Given the description of an element on the screen output the (x, y) to click on. 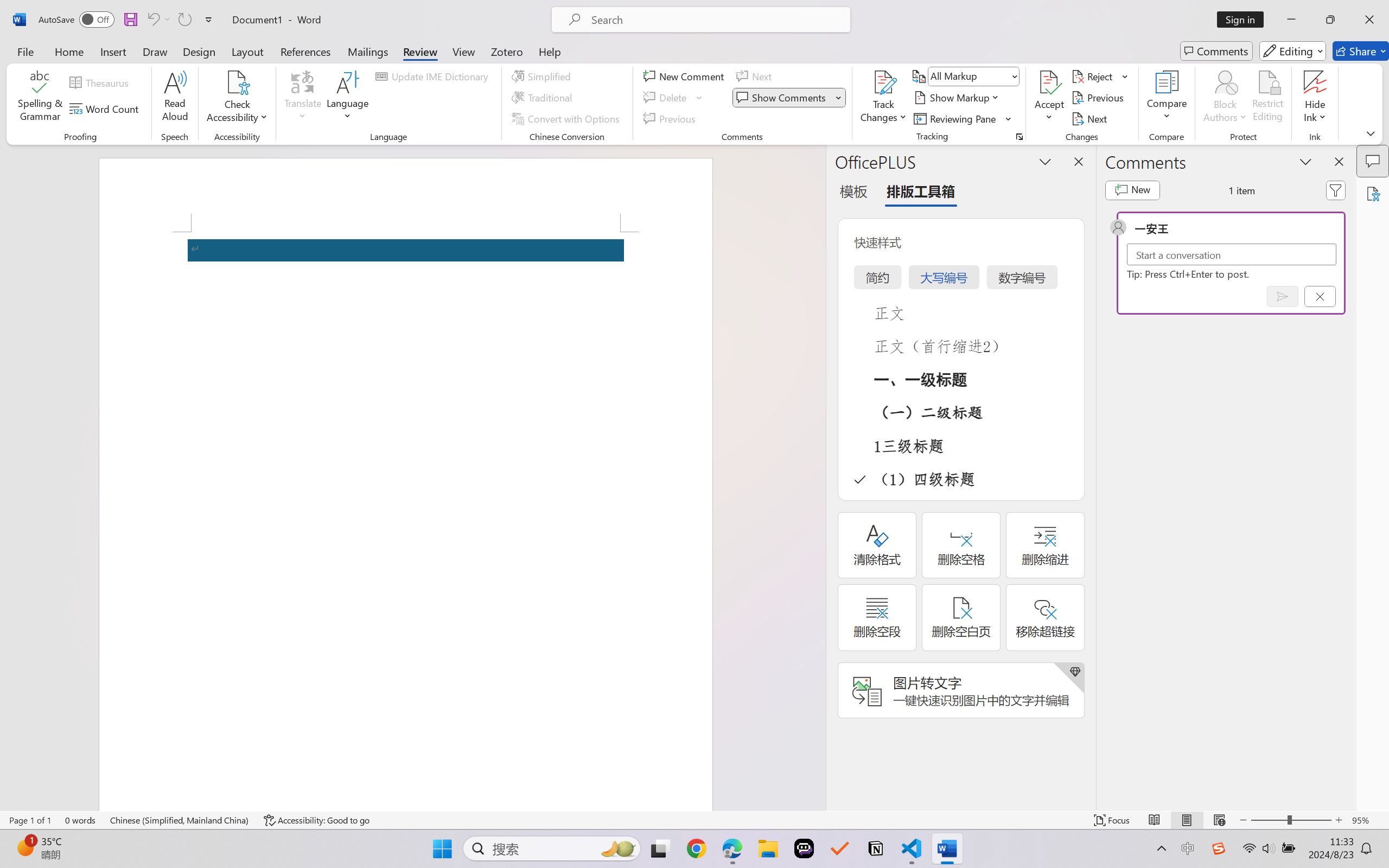
Track Changes (883, 81)
Show Comments (788, 97)
Reject (1100, 75)
Check Accessibility (237, 97)
Reviewing Pane (962, 118)
Traditional (543, 97)
Compare (1166, 97)
Previous (1099, 97)
